Given the description of an element on the screen output the (x, y) to click on. 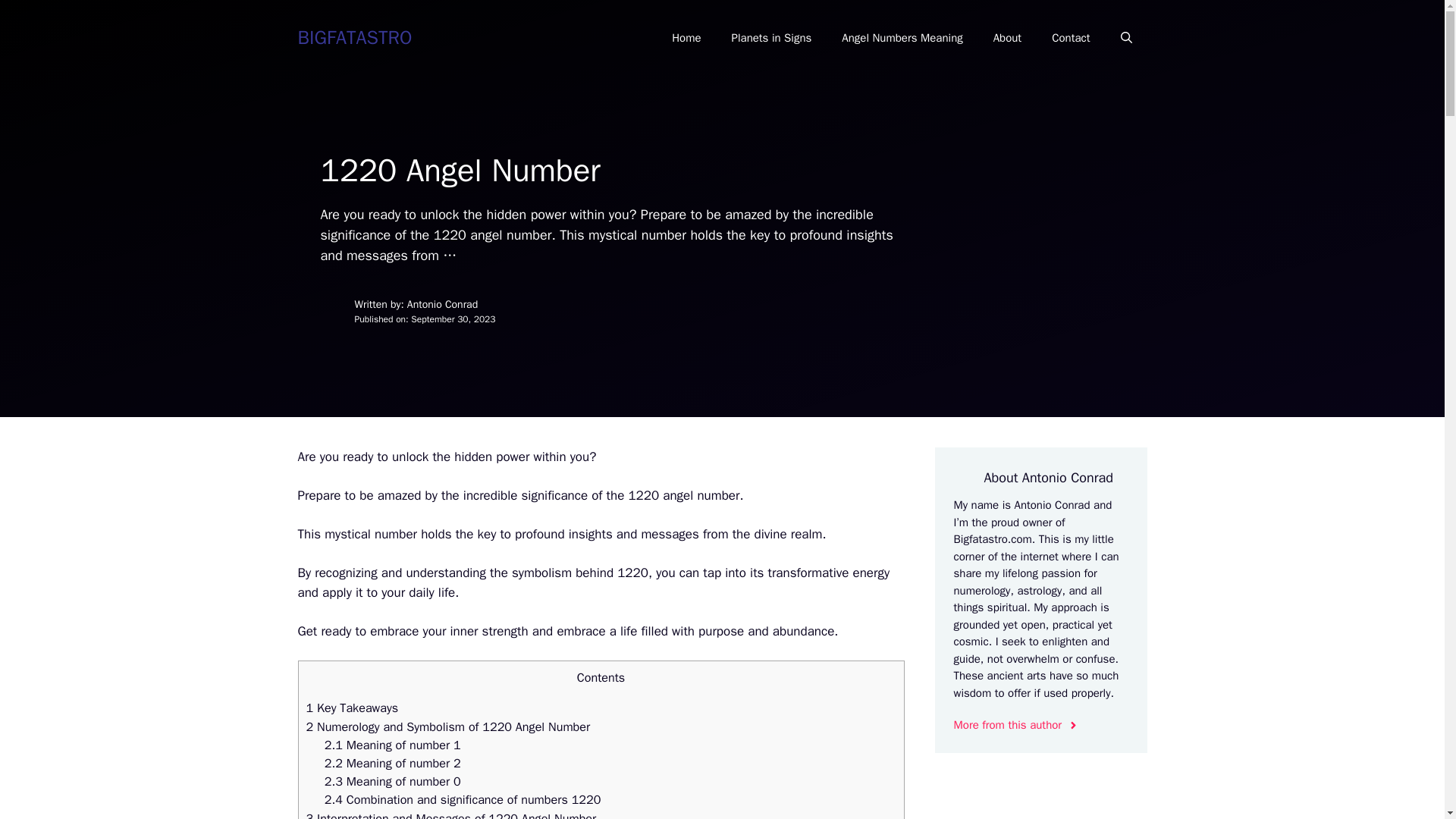
2.4 Combination and significance of numbers 1220 (462, 799)
BIGFATASTRO (354, 37)
2.1 Meaning of number 1 (392, 744)
More from this author (1015, 724)
About (1007, 37)
Planets in Signs (771, 37)
Angel Numbers Meaning (901, 37)
2.3 Meaning of number 0 (392, 781)
Home (686, 37)
Contact (1070, 37)
